Given the description of an element on the screen output the (x, y) to click on. 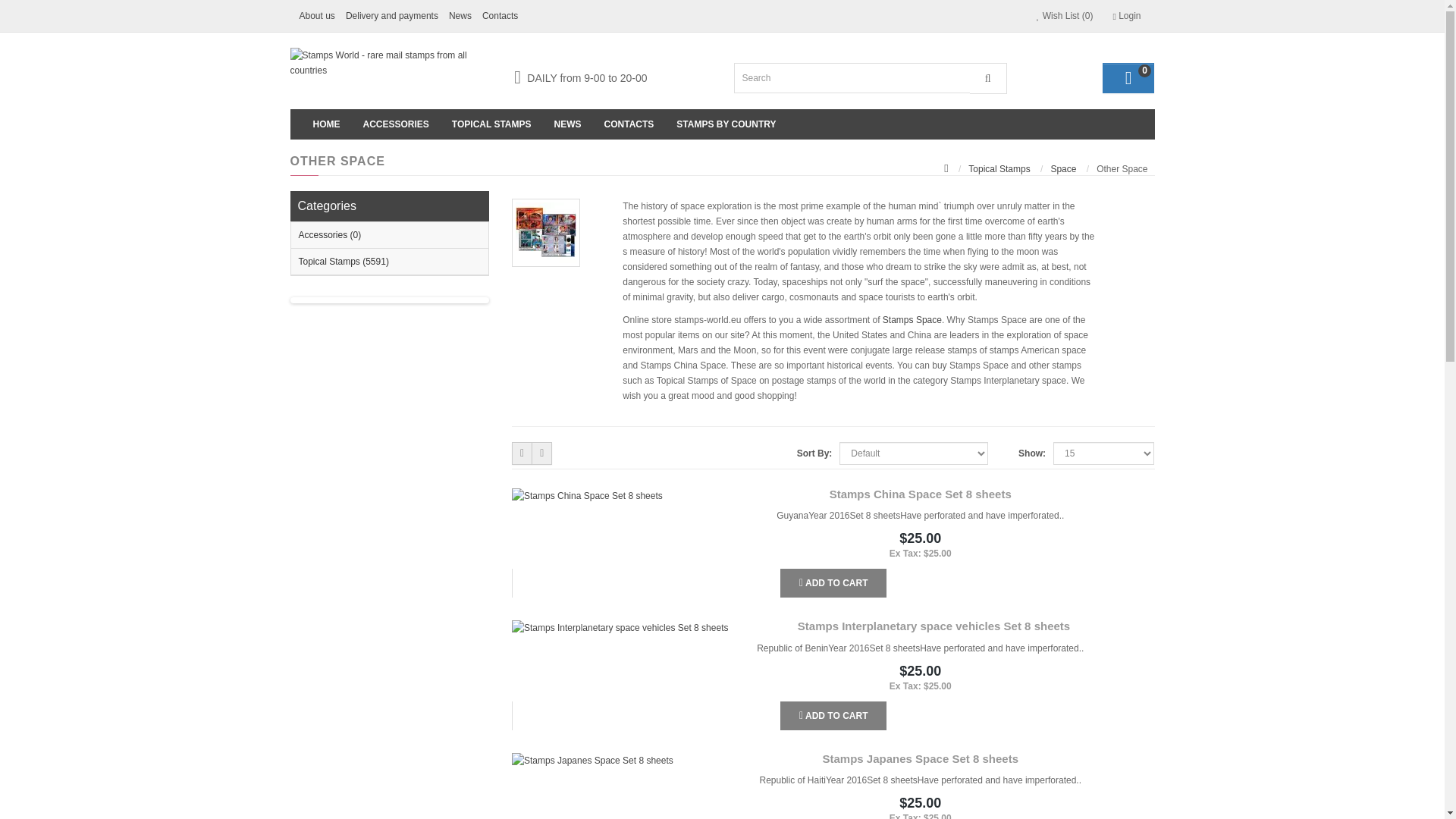
TOPICAL STAMPS (492, 123)
Stamps Japanes Space  Set 8 sheets (592, 760)
Delivery and payments (392, 15)
Stamps China Space  Set 8 sheets (587, 495)
News (460, 15)
Stamps World - rare mail stamps from all countries (389, 62)
0 (1128, 78)
About us (317, 15)
HOME (326, 123)
Stamps Interplanetary space vehicles Set 8 sheets (620, 627)
Contacts (499, 15)
Grid (541, 453)
List (522, 453)
Other Space (545, 232)
Login (1126, 15)
